Given the description of an element on the screen output the (x, y) to click on. 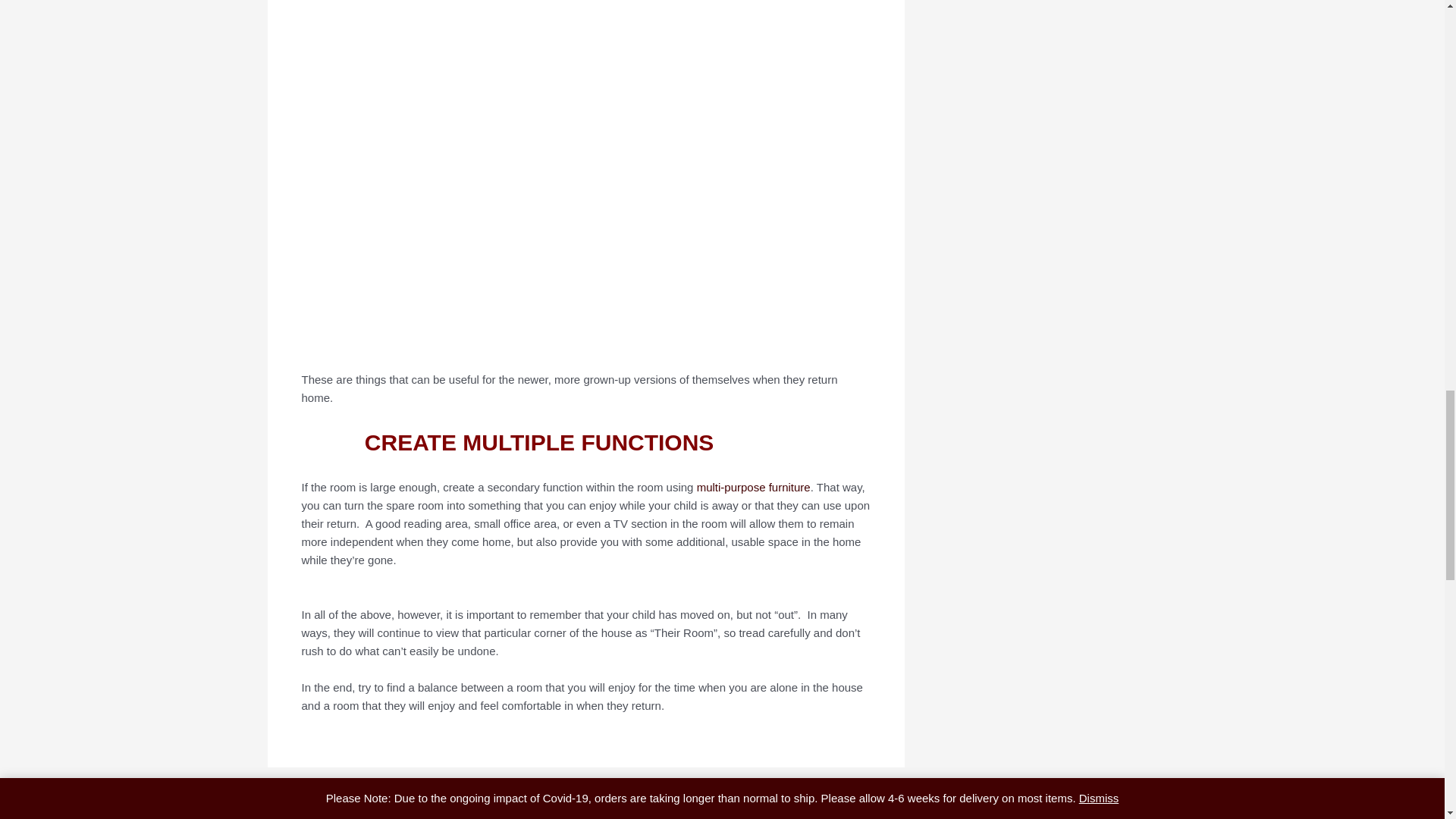
multi-purpose furniture (753, 486)
